Given the description of an element on the screen output the (x, y) to click on. 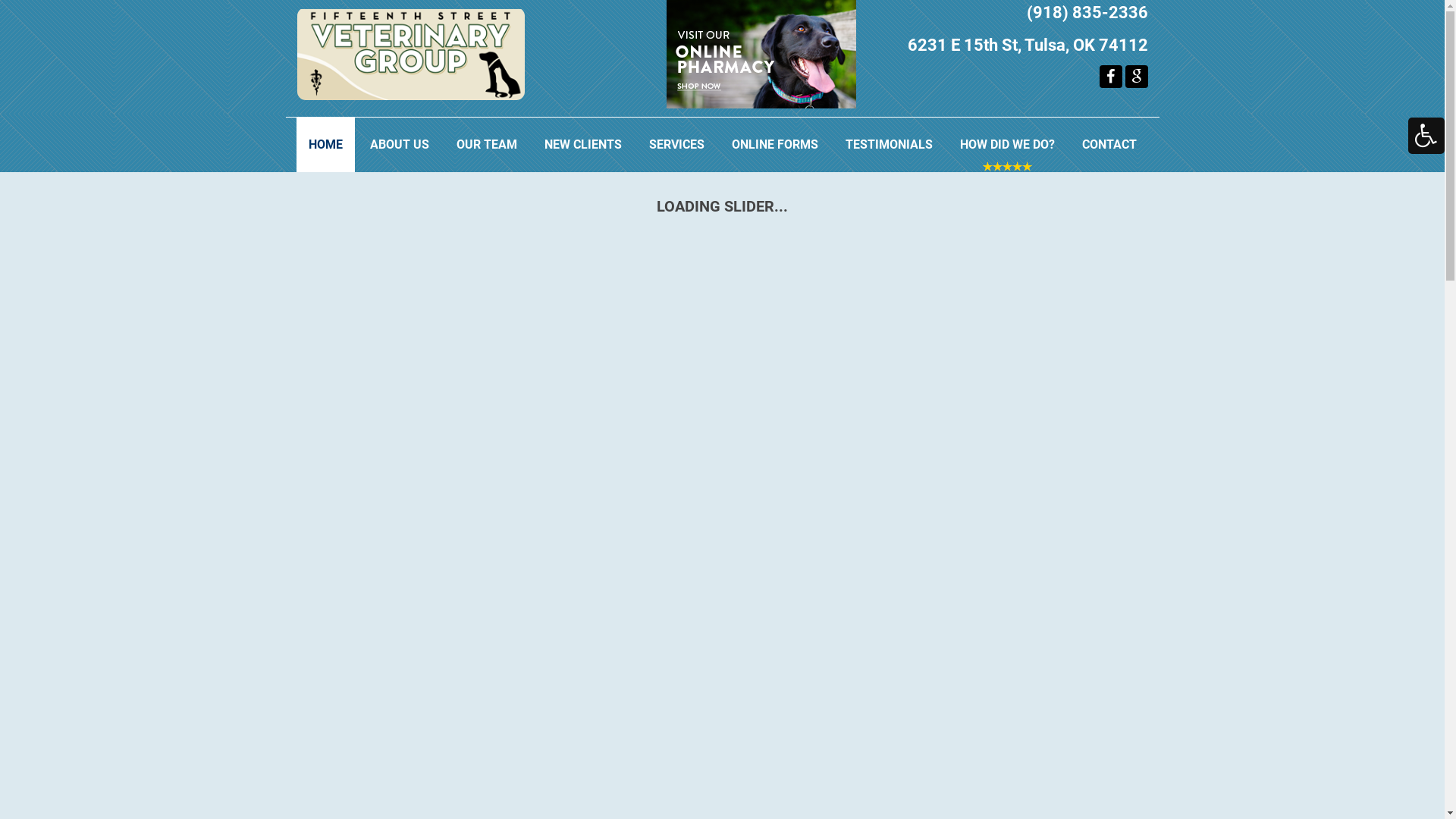
(918) 835-2336 Element type: text (1087, 12)
TESTIMONIALS Element type: text (888, 144)
Accessibility Helper sidebar Element type: hover (1426, 135)
HOW DID WE DO? Element type: text (1006, 144)
CONTACT Element type: text (1108, 144)
SERVICES Element type: text (676, 144)
ONLINE FORMS Element type: text (773, 144)
OUR TEAM Element type: text (486, 144)
ABOUT US Element type: text (399, 144)
HOME Element type: text (324, 144)
NEW CLIENTS Element type: text (582, 144)
